Given the description of an element on the screen output the (x, y) to click on. 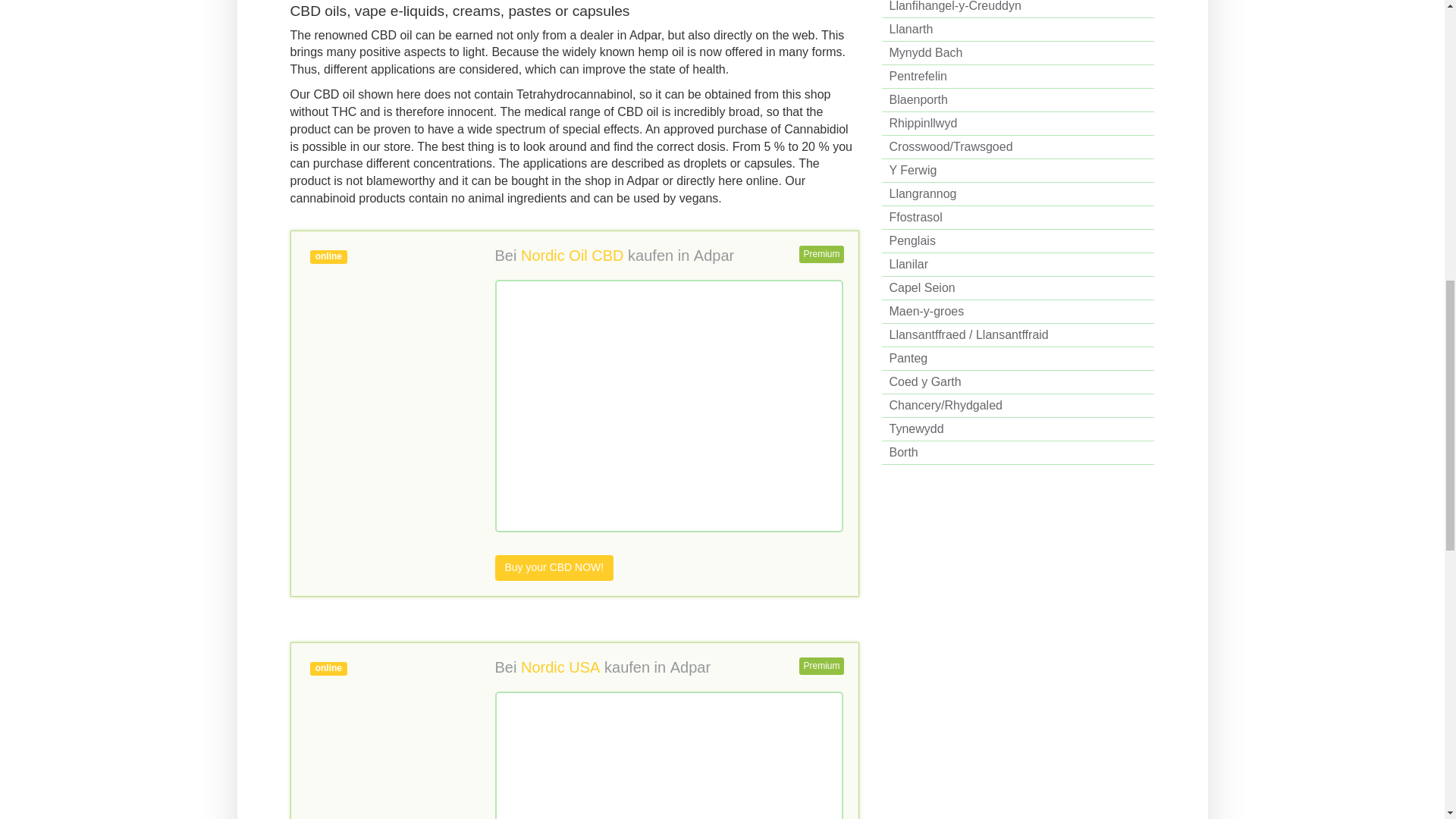
Bei Nordic USA wetten! (560, 667)
Bei Nordic Oil CBD wetten! (572, 255)
Rhippinllwyd (1017, 123)
Nordic Oil CBD jetzt kennenlernen! (553, 567)
Mynydd Bach (1017, 53)
online (381, 322)
Buy your CBD NOW! (553, 567)
Llanfihangel-y-Creuddyn (1017, 9)
Nordic Oil CBD jetzt kennenlernen! (381, 322)
Nordic USA (560, 667)
Pentrefelin (1017, 76)
Nordic USA jetzt kennenlernen! (381, 733)
Nordic Oil CBD (572, 255)
Adpar (689, 667)
Blaenporth (1017, 100)
